Given the description of an element on the screen output the (x, y) to click on. 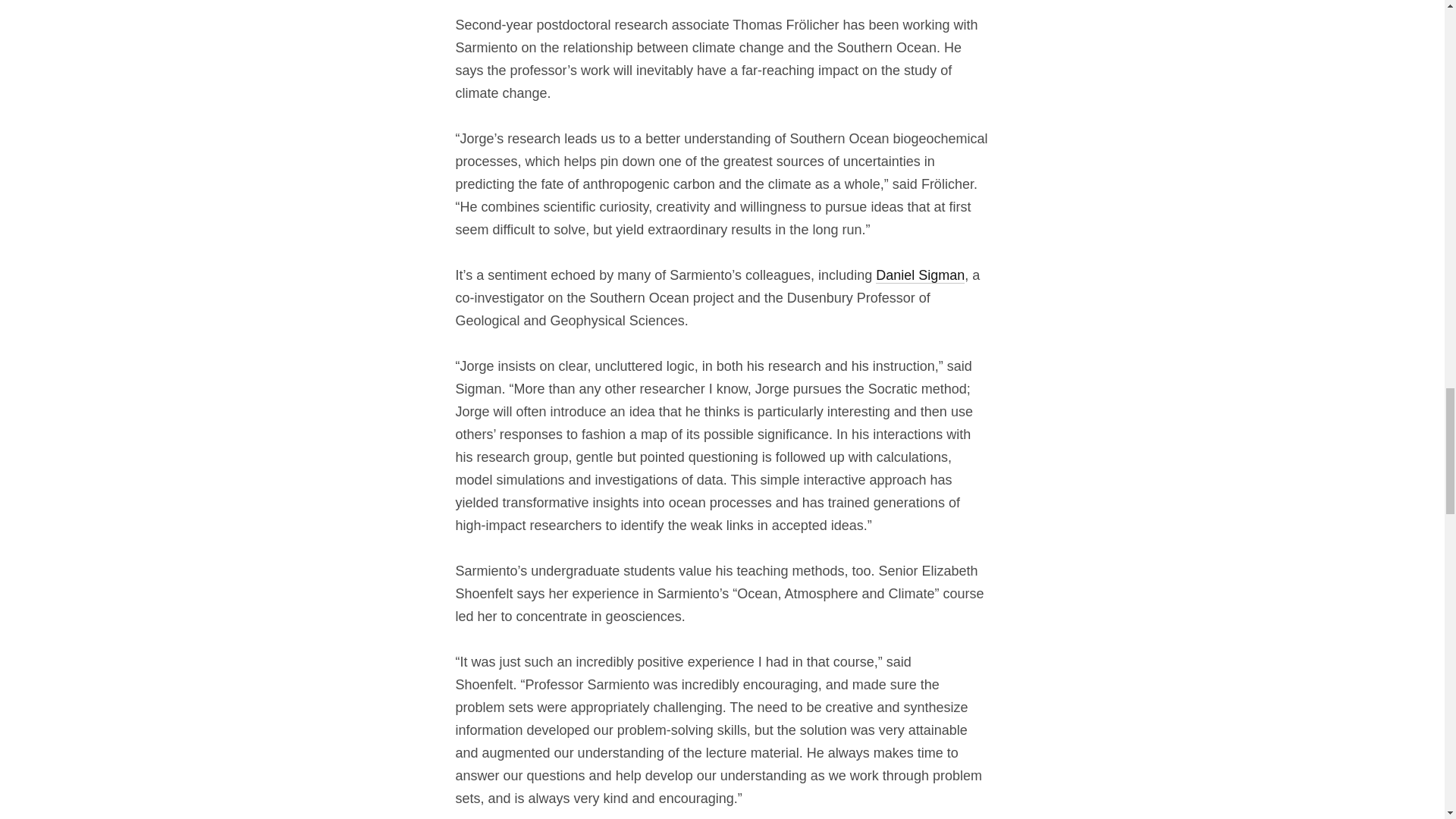
Daniel Sigman (919, 275)
